Given the description of an element on the screen output the (x, y) to click on. 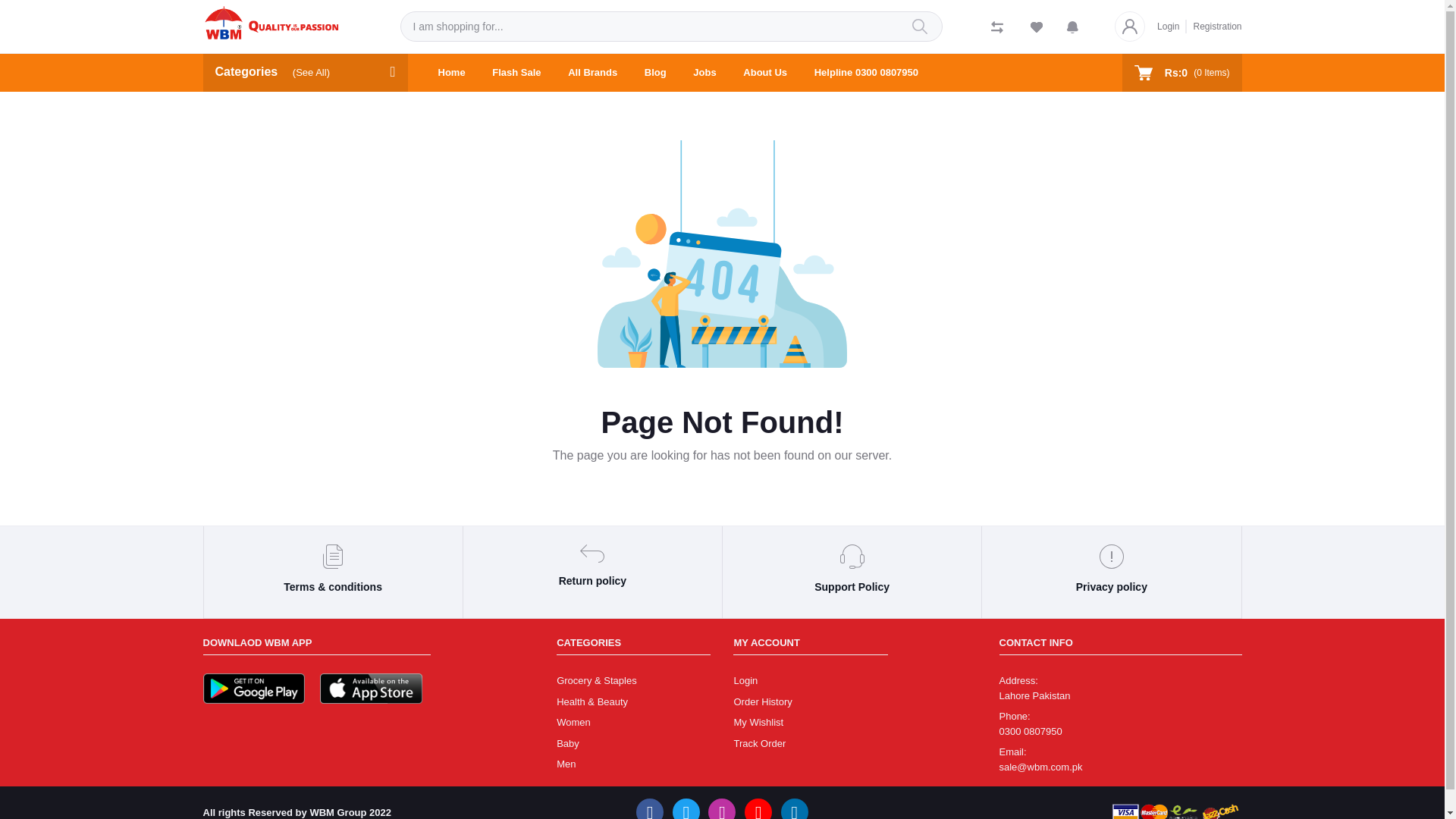
About Us (764, 72)
Cart (1181, 72)
Home (451, 72)
Login (1171, 26)
Flash Sale (516, 72)
Helpline 0300 0807950 (866, 72)
Jobs (704, 72)
All Brands (592, 72)
Registration (1213, 26)
Blog (654, 72)
